Given the description of an element on the screen output the (x, y) to click on. 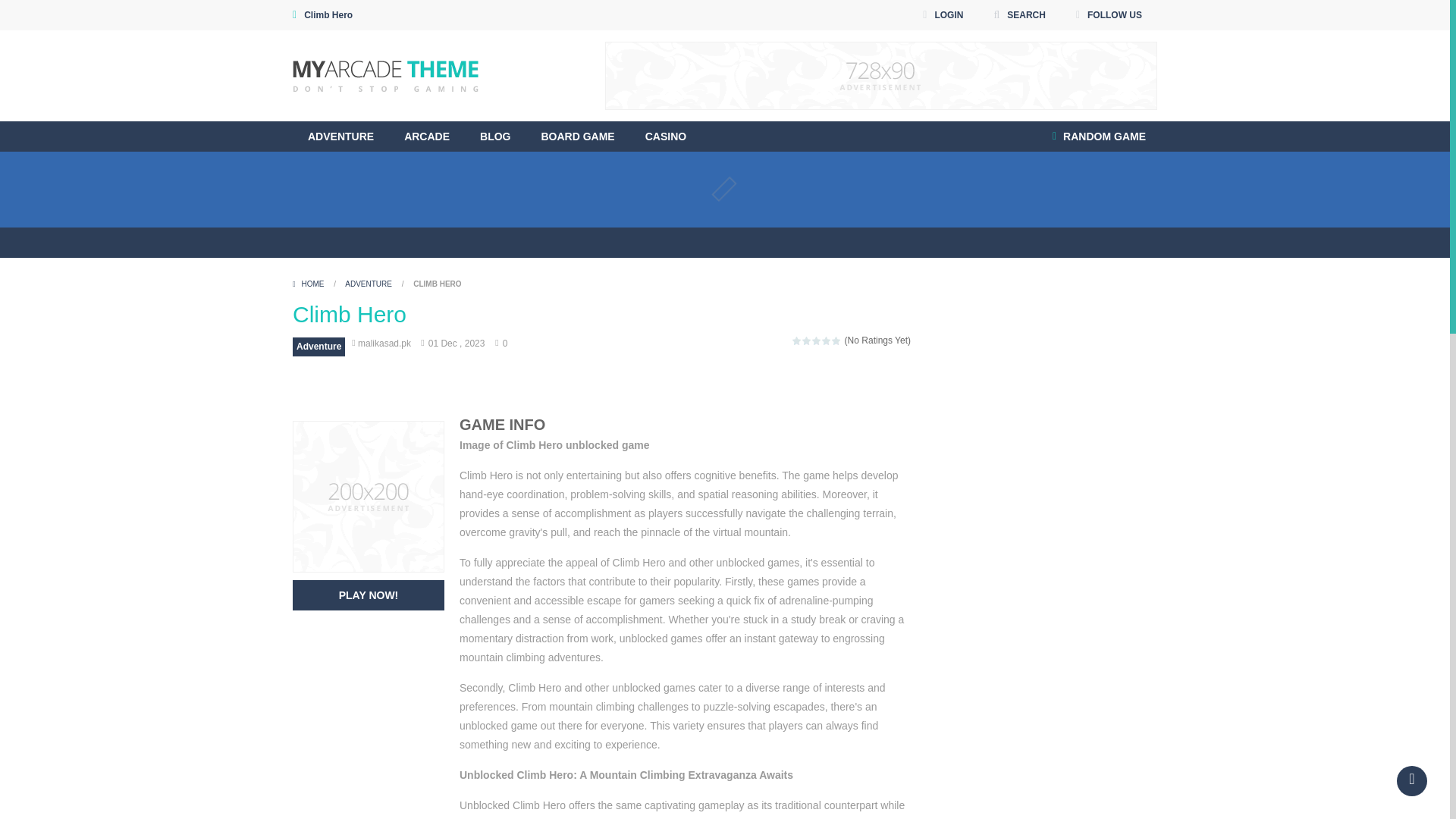
RANDOM GAME (1099, 136)
BOARD GAME (576, 136)
BLOG (494, 136)
LOGIN (942, 15)
FOLLOW US (1108, 15)
ADVENTURE (340, 136)
Play a random game! (1099, 136)
SEARCH (1019, 15)
Unblocked Games (385, 74)
CASINO (665, 136)
Unblocked Games (385, 75)
ARCADE (426, 136)
